Given the description of an element on the screen output the (x, y) to click on. 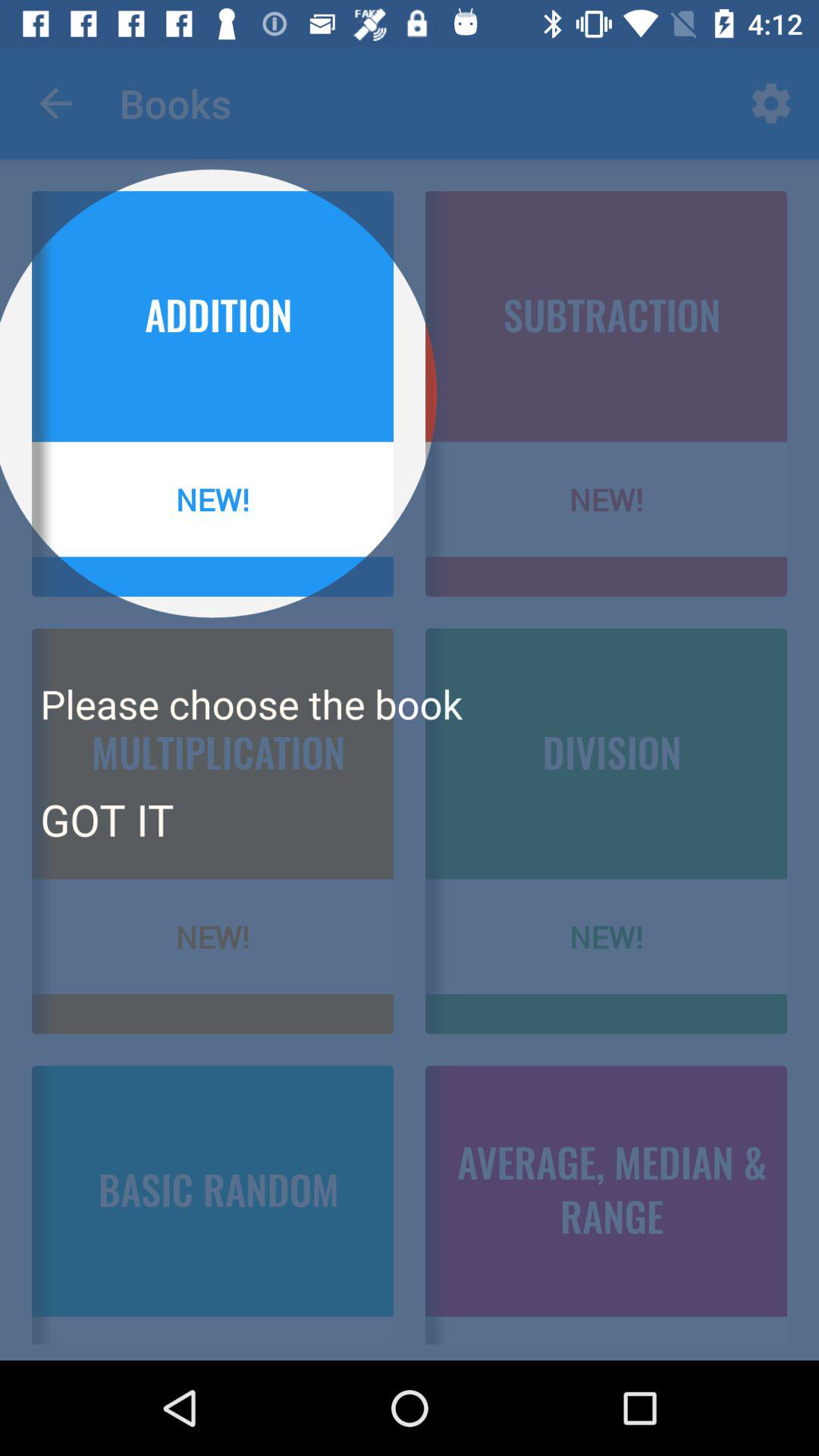
select the item above the addition (55, 103)
